Given the description of an element on the screen output the (x, y) to click on. 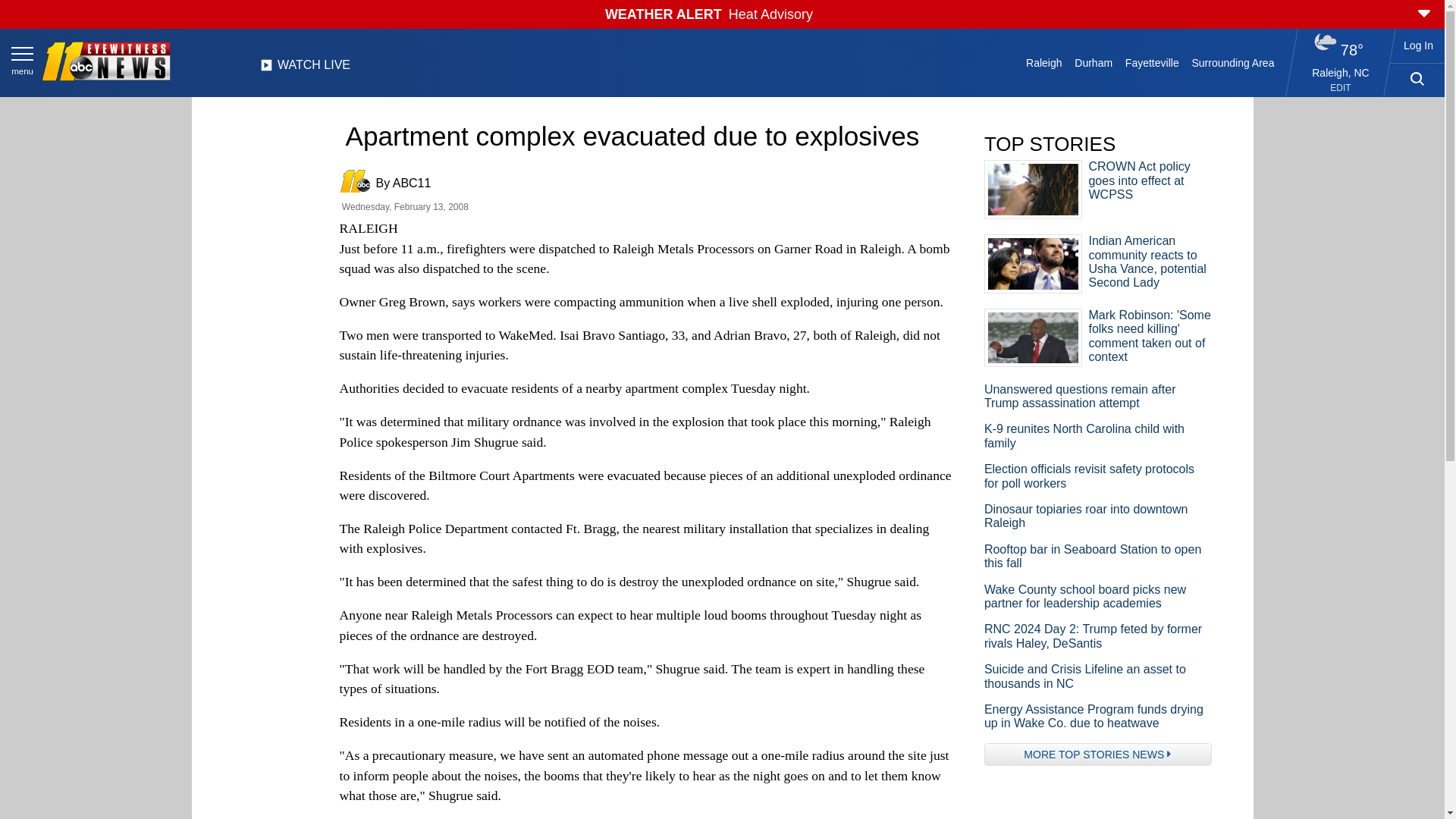
Fayetteville (1151, 62)
Surrounding Area (1233, 62)
WATCH LIVE (305, 69)
Raleigh (1044, 62)
EDIT (1340, 87)
Durham (1093, 62)
Raleigh, NC (1340, 72)
